Given the description of an element on the screen output the (x, y) to click on. 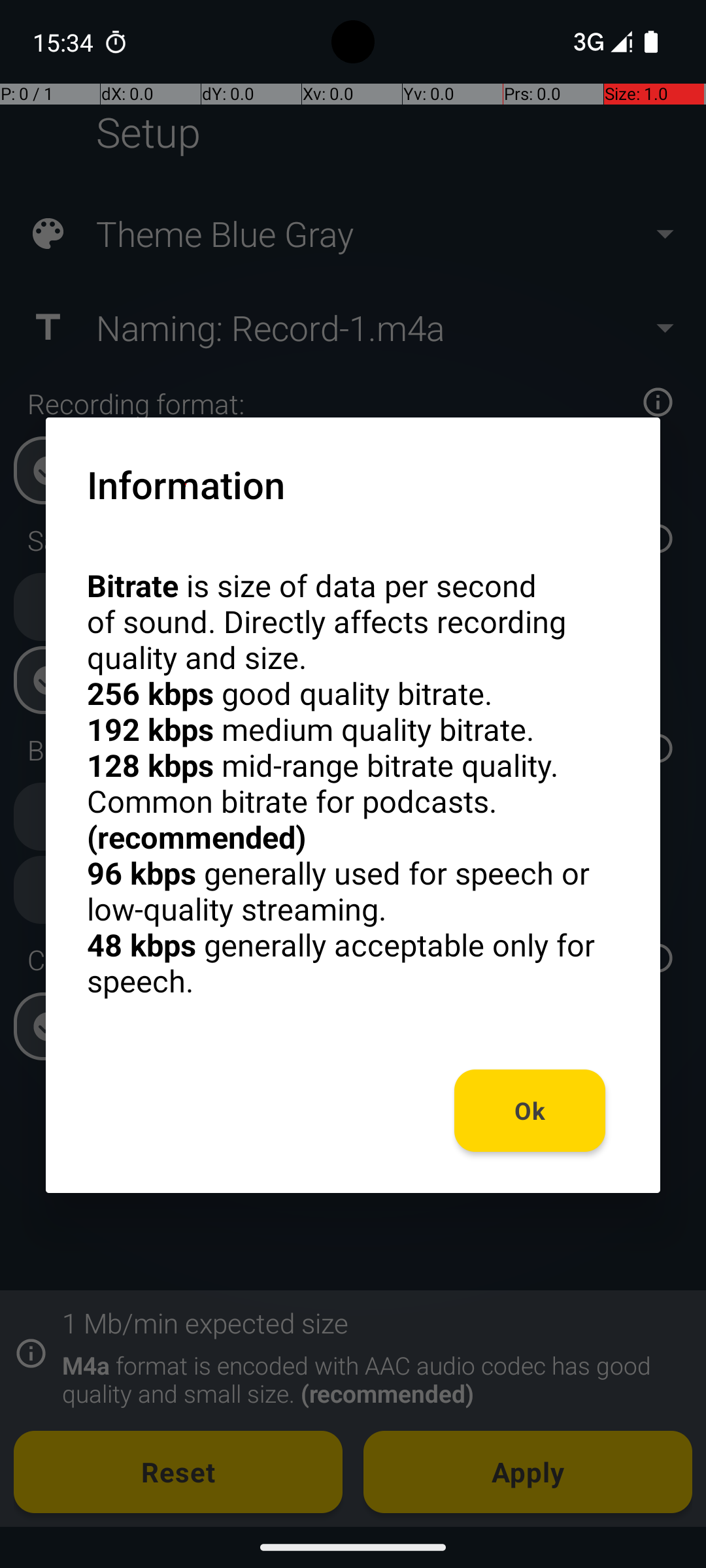
Bitrate is size of data per second of sound. Directly affects recording quality and size. 
256 kbps good quality bitrate. 
192 kbps medium quality bitrate. 
128 kbps mid-range bitrate quality. Common bitrate for podcasts. (recommended) 
96 kbps generally used for speech or low-quality streaming. 
48 kbps generally acceptable only for speech.  Element type: android.widget.TextView (352, 782)
